Given the description of an element on the screen output the (x, y) to click on. 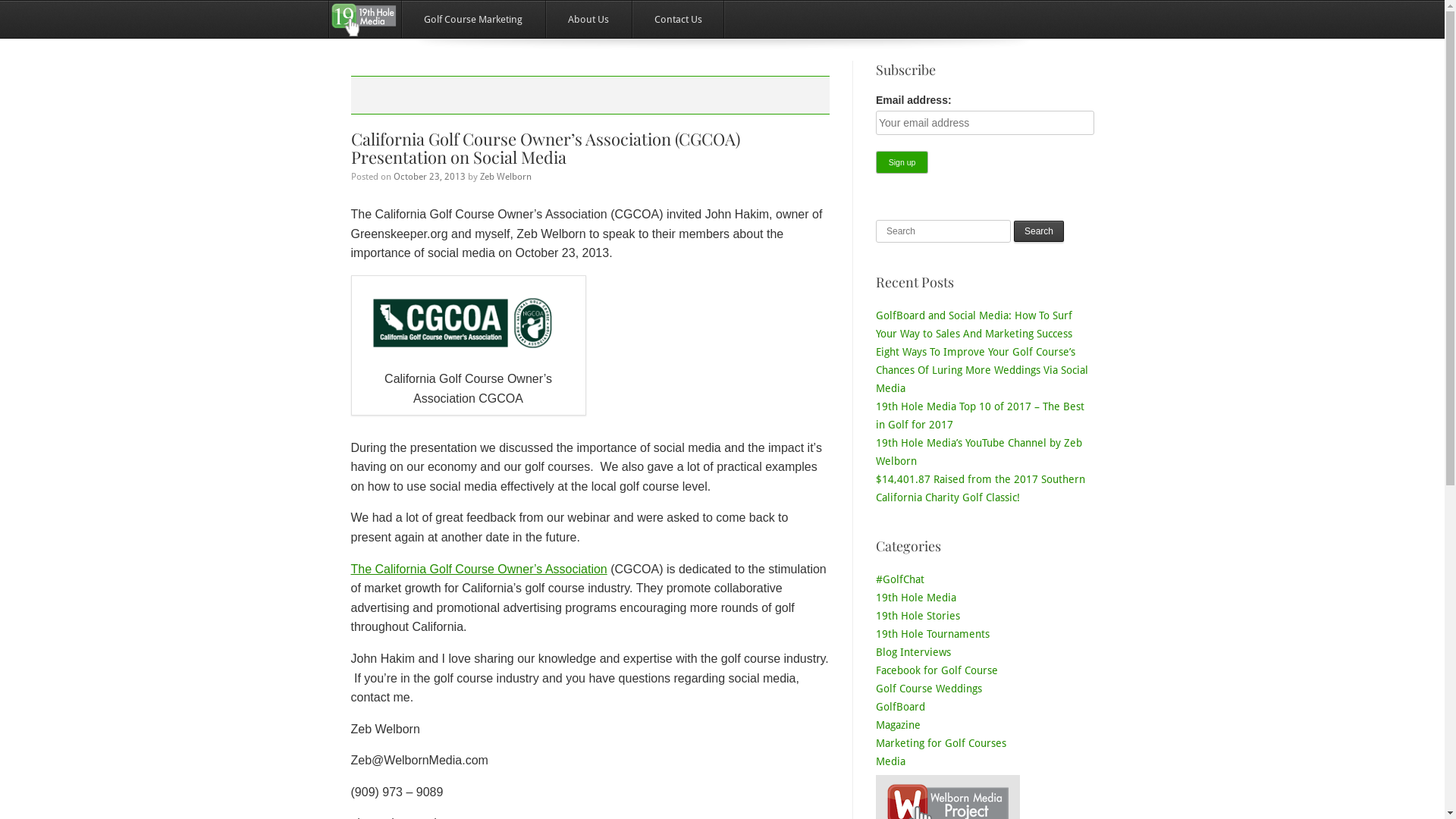
Sign up Element type: text (901, 161)
Marketing for Golf Courses Element type: text (940, 743)
#GolfChat Element type: text (899, 579)
Zeb Welborn Element type: text (504, 176)
October 23, 2013 Element type: text (428, 176)
Golf Course Marketing Element type: text (472, 18)
About Us Element type: text (587, 18)
Skip to content Element type: text (389, 20)
Search Element type: text (1038, 230)
Podcast Element type: text (893, 797)
Podcast Element type: text (893, 779)
Facebook for Golf Course Element type: text (936, 670)
19th Hole Stories Element type: text (917, 615)
19th Hole Media Element type: text (915, 597)
GolfBoard Element type: text (900, 706)
Blog Interviews Element type: text (912, 652)
19th Hole Tournaments Element type: text (932, 633)
Contact Us Element type: text (677, 18)
Media Element type: text (890, 761)
Golf Course Weddings Element type: text (928, 688)
Home Element type: text (363, 18)
Magazine Element type: text (897, 724)
